Given the description of an element on the screen output the (x, y) to click on. 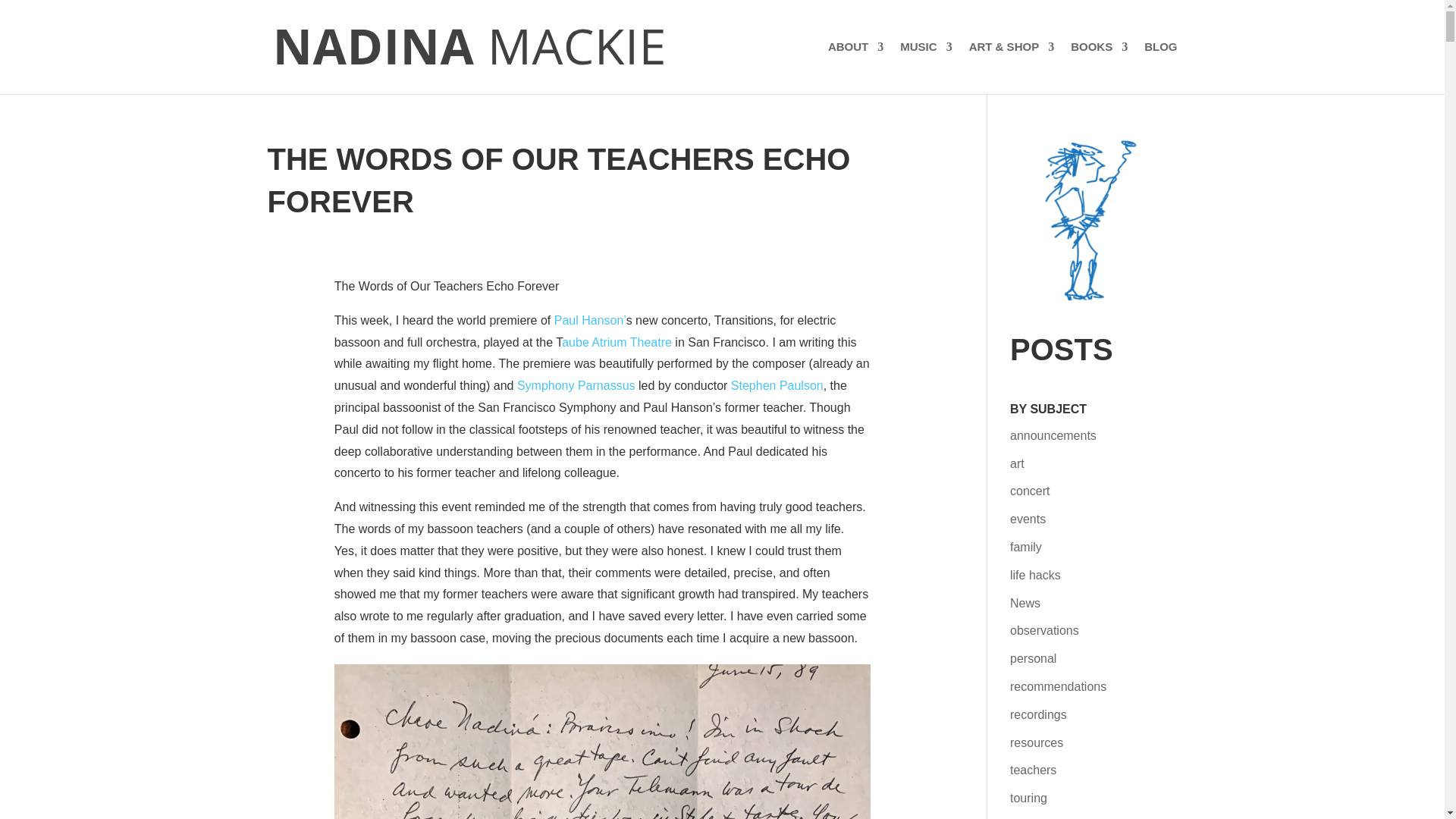
aube Atrium Theatre (616, 341)
BOOKS (1098, 67)
ABOUT (855, 67)
Letter from Sol Schoenbach to Nadina Mackie (602, 741)
Symphony Parnassus (575, 385)
THE WORDS OF OUR TEACHERS ECHO FOREVER (558, 180)
MUSIC (925, 67)
Stephen Paulson (777, 385)
